Given the description of an element on the screen output the (x, y) to click on. 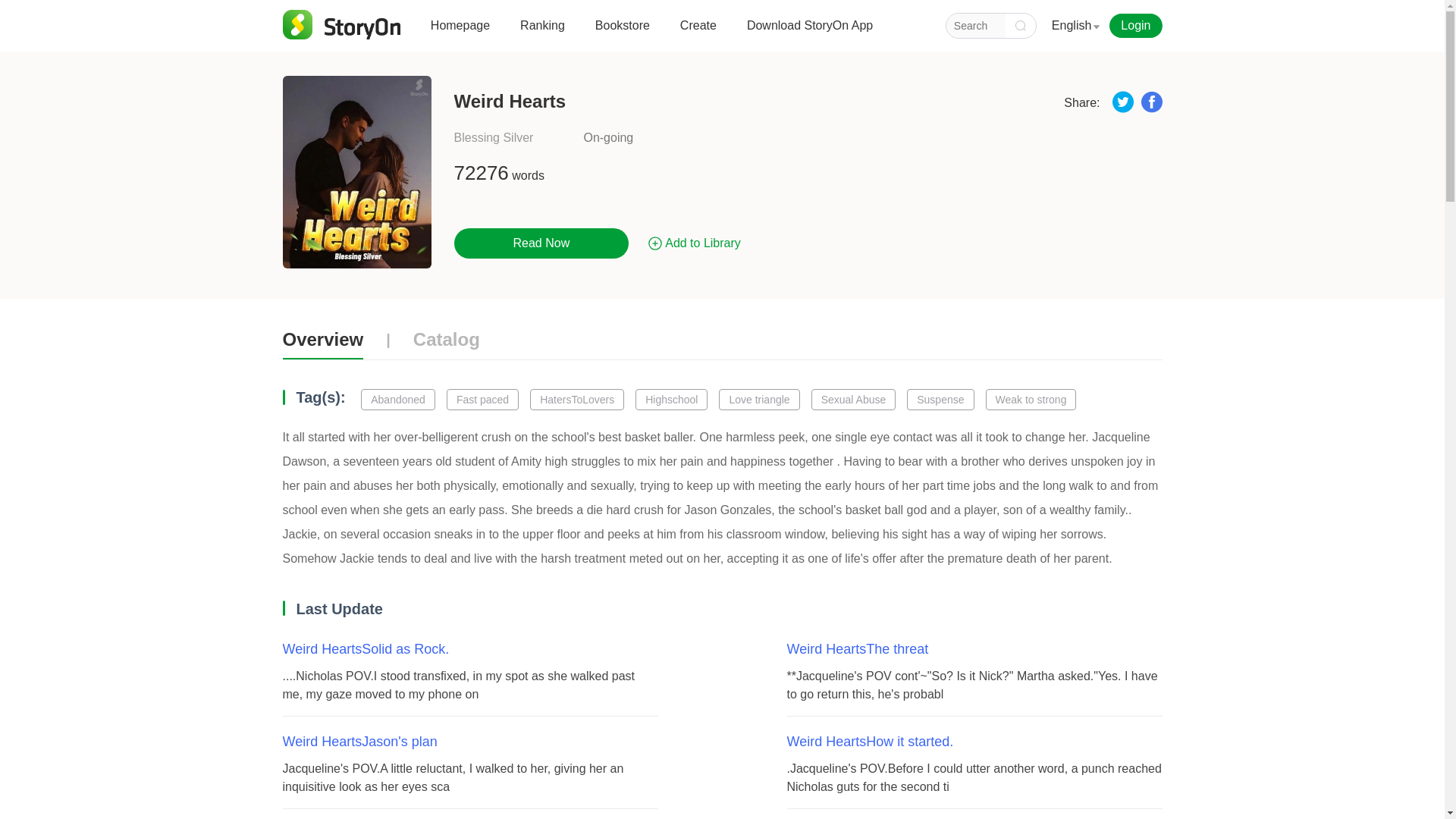
Login (1131, 25)
Ranking (541, 31)
Login (1135, 25)
Create (697, 31)
Read Now (540, 243)
Bookstore (622, 31)
Download StoryOn App (809, 31)
Homepage (459, 31)
